Given the description of an element on the screen output the (x, y) to click on. 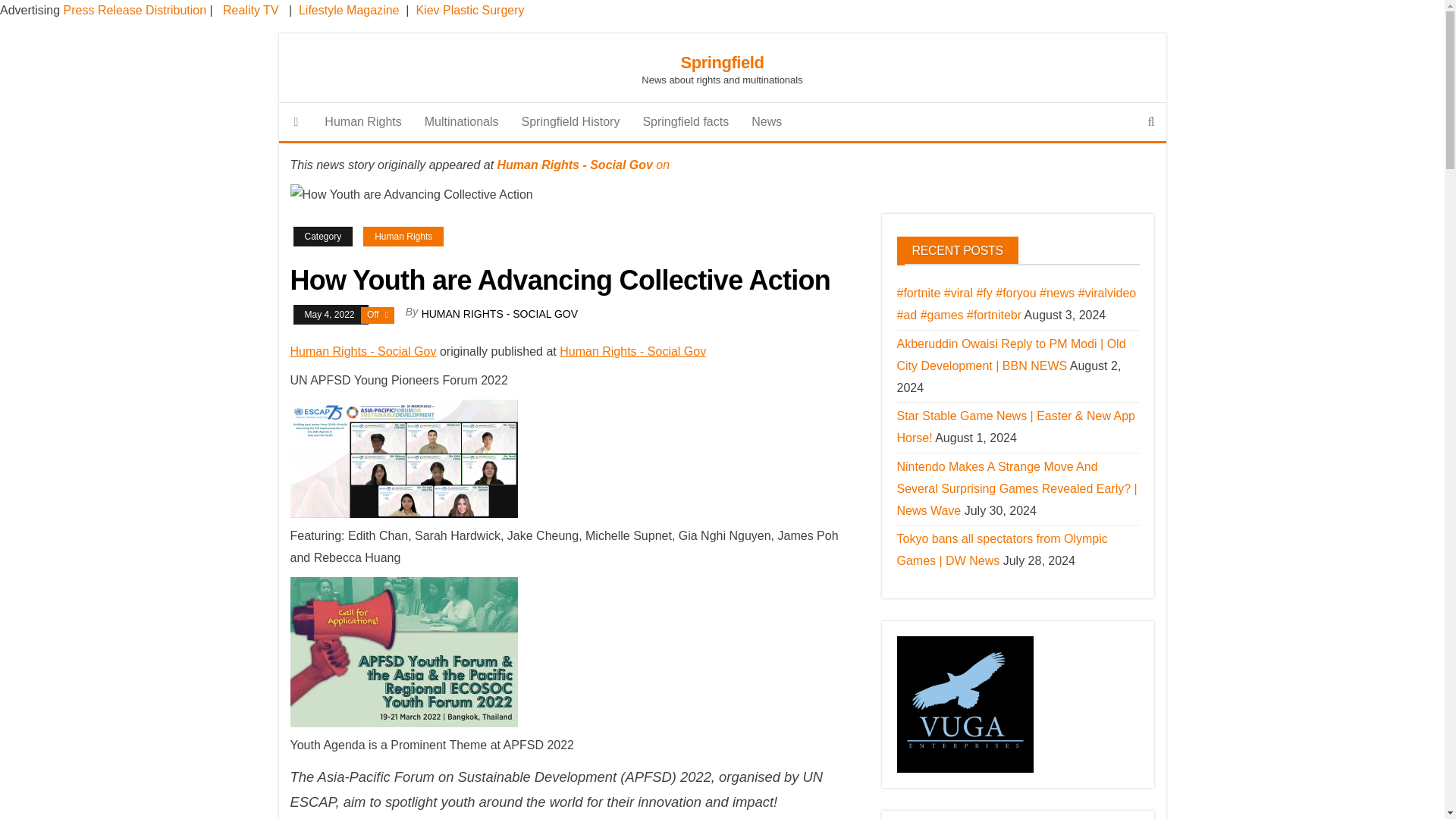
Springfield (720, 62)
Human Rights (403, 236)
Human Rights (362, 121)
Springfield facts (684, 121)
How Youth are Advancing Collective Action (410, 195)
News (766, 121)
Springfield (296, 121)
Lifestyle Magazine (348, 10)
News (766, 121)
